Given the description of an element on the screen output the (x, y) to click on. 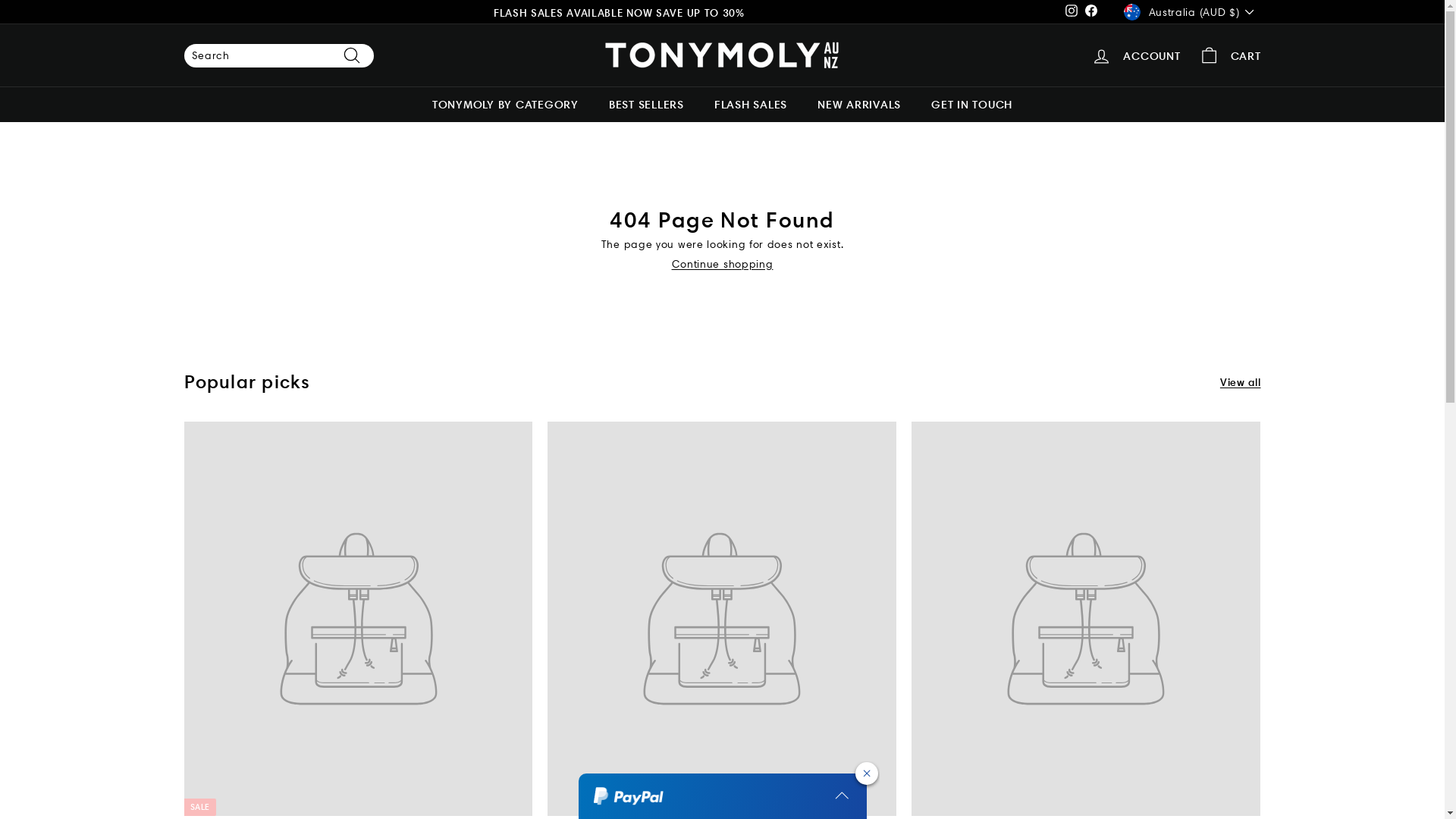
BEST SELLERS Element type: text (646, 104)
GET IN TOUCH Element type: text (971, 104)
Instagram Element type: text (1071, 11)
Facebook Element type: text (1091, 11)
TONYMOLY BY CATEGORY Element type: text (505, 104)
NEW ARRIVALS Element type: text (859, 104)
ACCOUNT Element type: text (1135, 55)
Continue shopping Element type: text (722, 263)
Australia (AUD $) Element type: text (1191, 12)
View all Element type: text (1240, 381)
FLASH SALES Element type: text (750, 104)
